Given the description of an element on the screen output the (x, y) to click on. 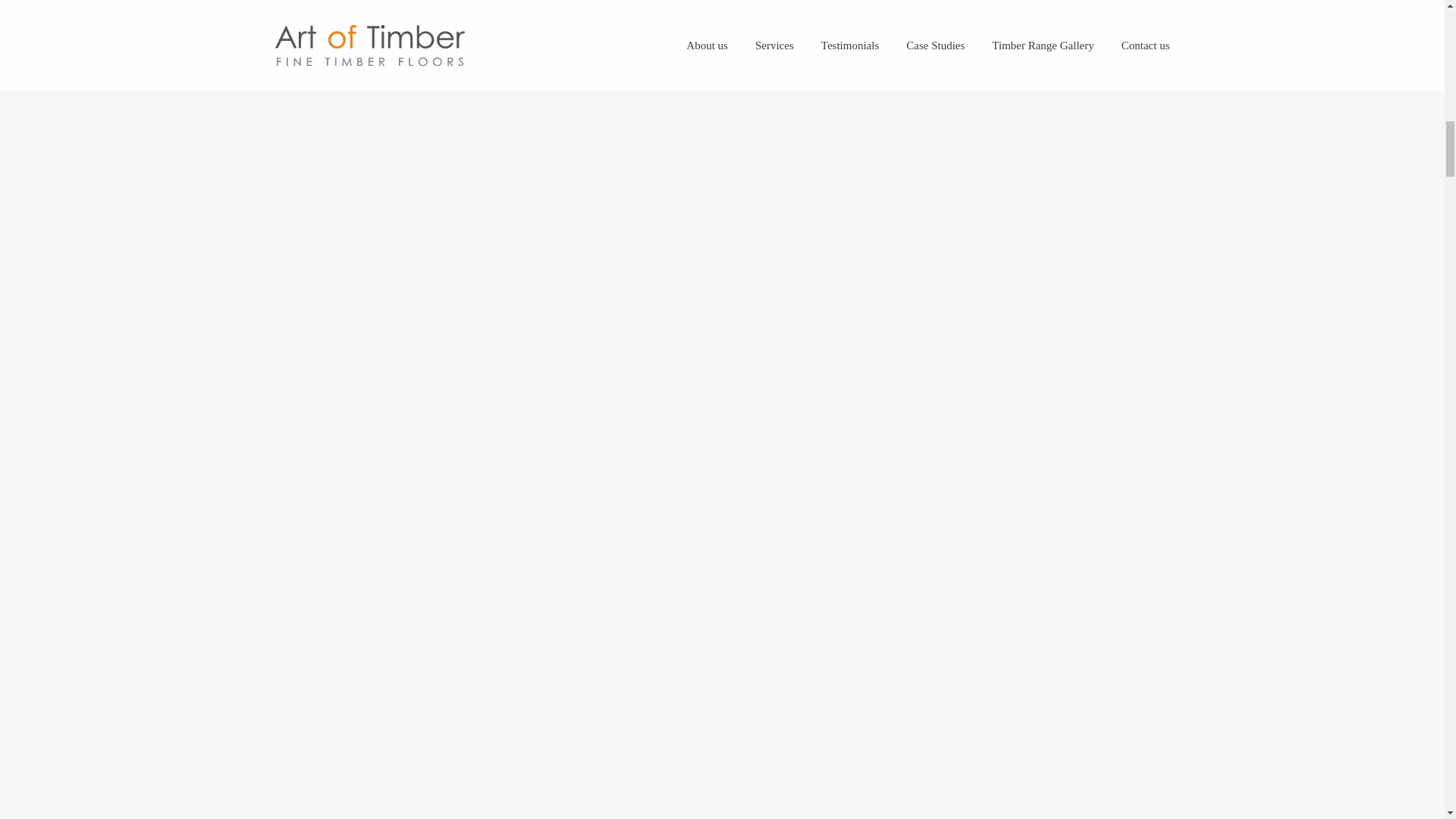
Roller skating rink in malaga (722, 753)
Roller skating rink in malaga (722, 8)
